Given the description of an element on the screen output the (x, y) to click on. 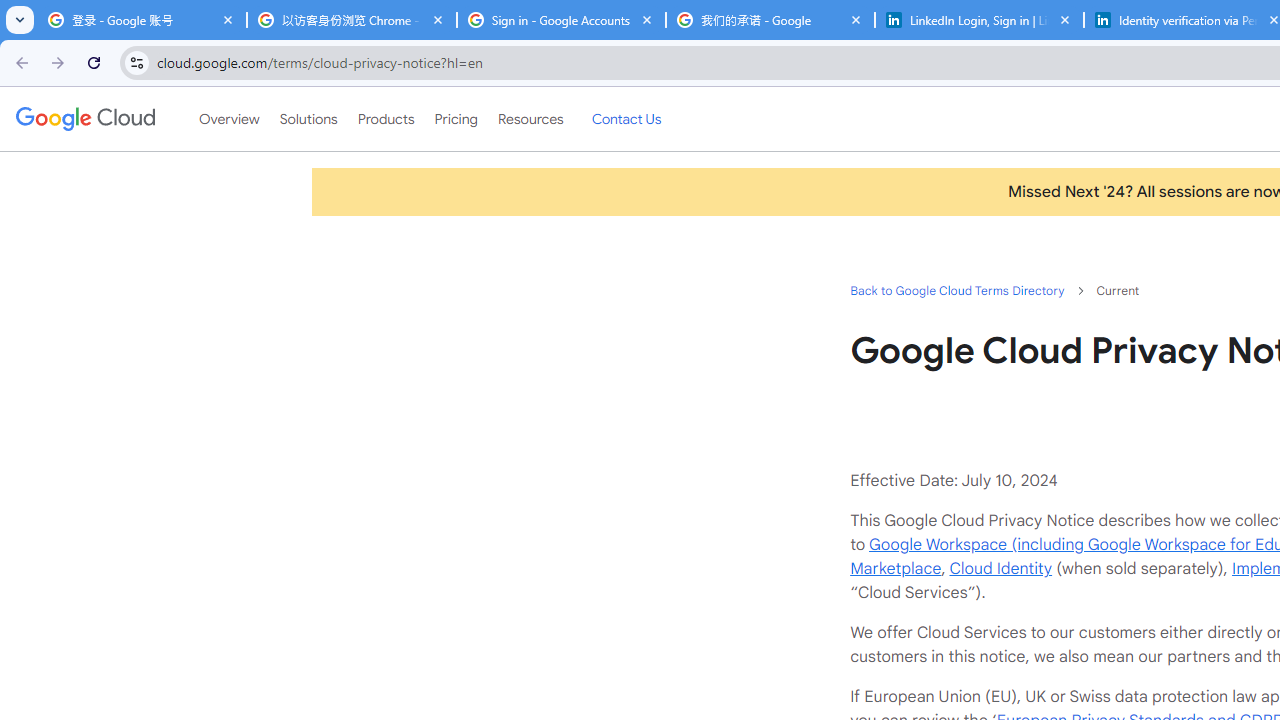
Pricing (455, 119)
Cloud Identity (1000, 568)
Solutions (308, 119)
Contact Us (626, 119)
Google Cloud (84, 118)
